Given the description of an element on the screen output the (x, y) to click on. 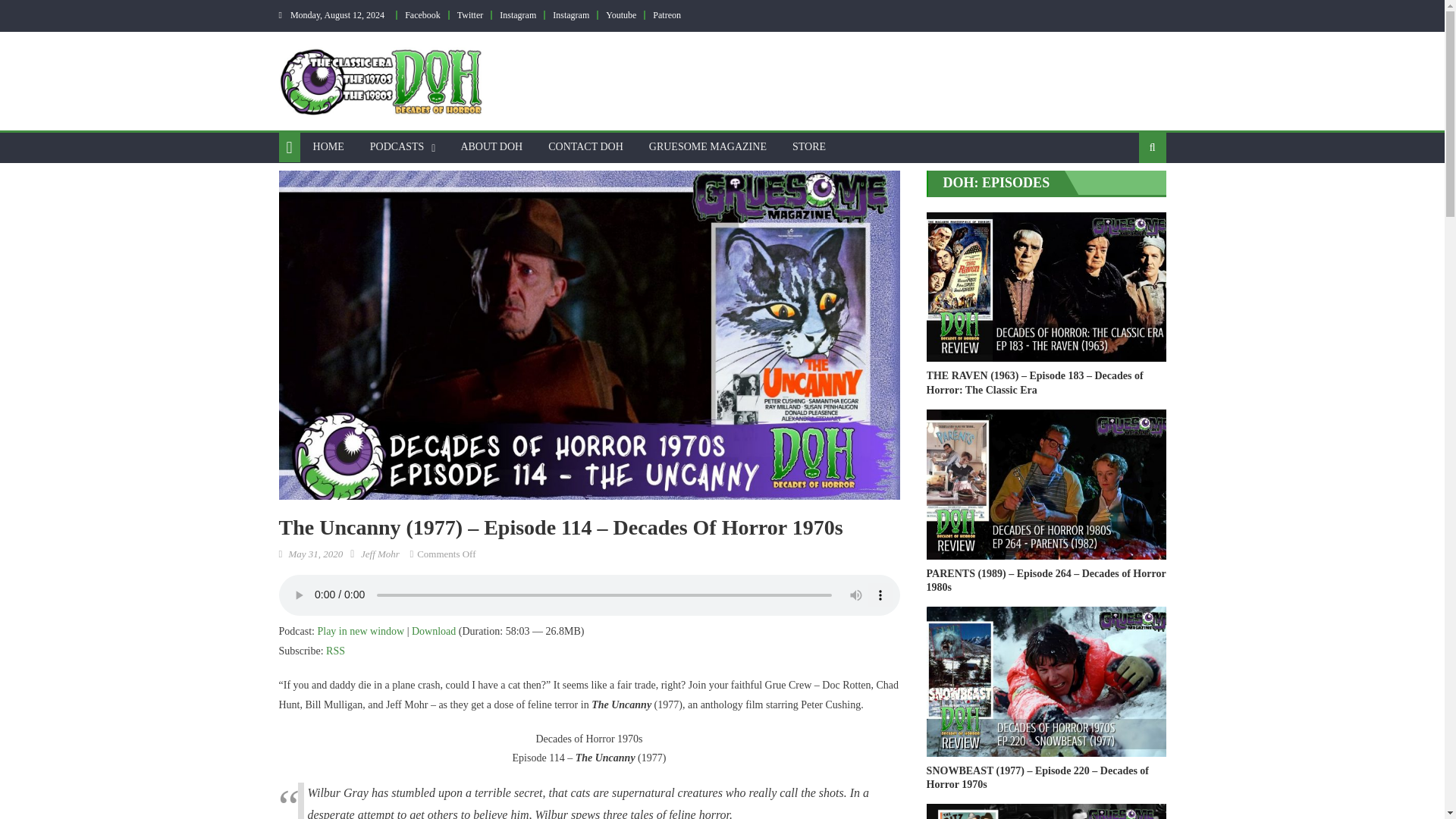
Download (433, 631)
May 31, 2020 (315, 553)
RSS (335, 650)
Play in new window (360, 631)
Patreon (666, 14)
Subscribe via RSS (335, 650)
Facebook (422, 14)
CONTACT DOH (585, 146)
Youtube (620, 14)
Jeff Mohr (379, 553)
